Given the description of an element on the screen output the (x, y) to click on. 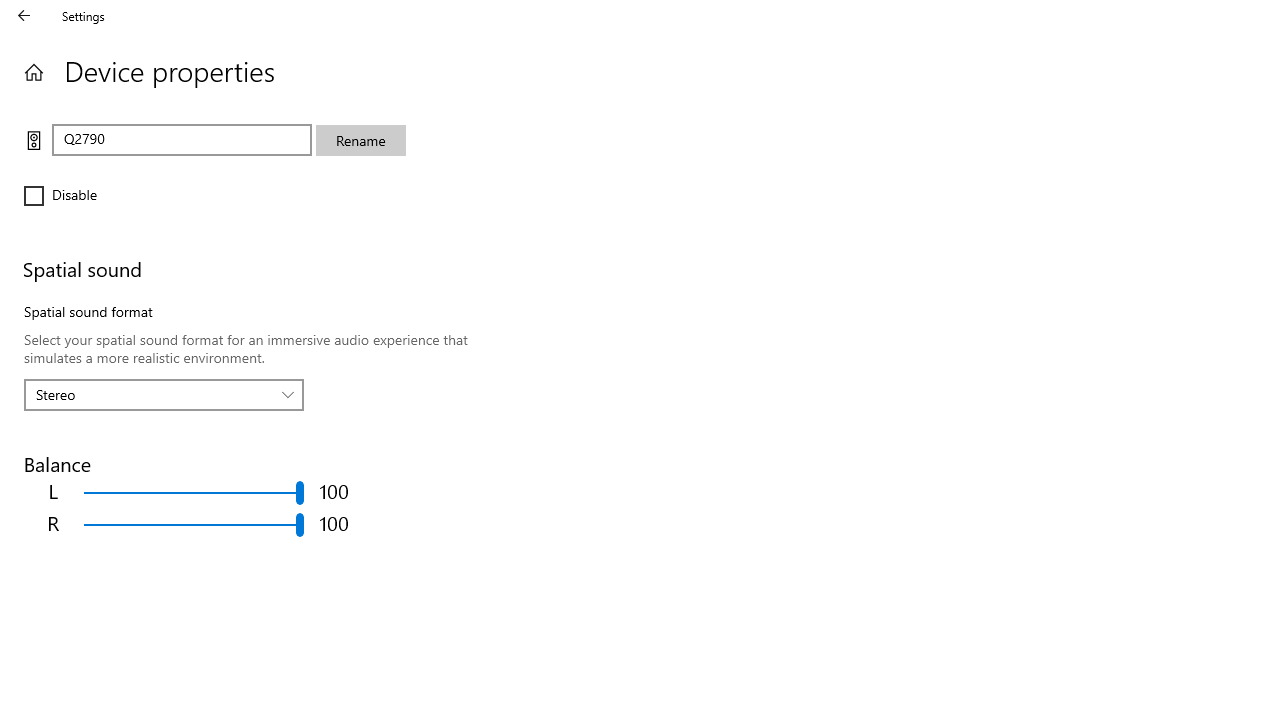
Rename (360, 140)
Disable (83, 195)
Adjust left audio balance (194, 492)
Stereo (153, 394)
Text box to change device name (182, 139)
Adjust right audio balance (194, 524)
Spatial sound format (164, 394)
